Given the description of an element on the screen output the (x, y) to click on. 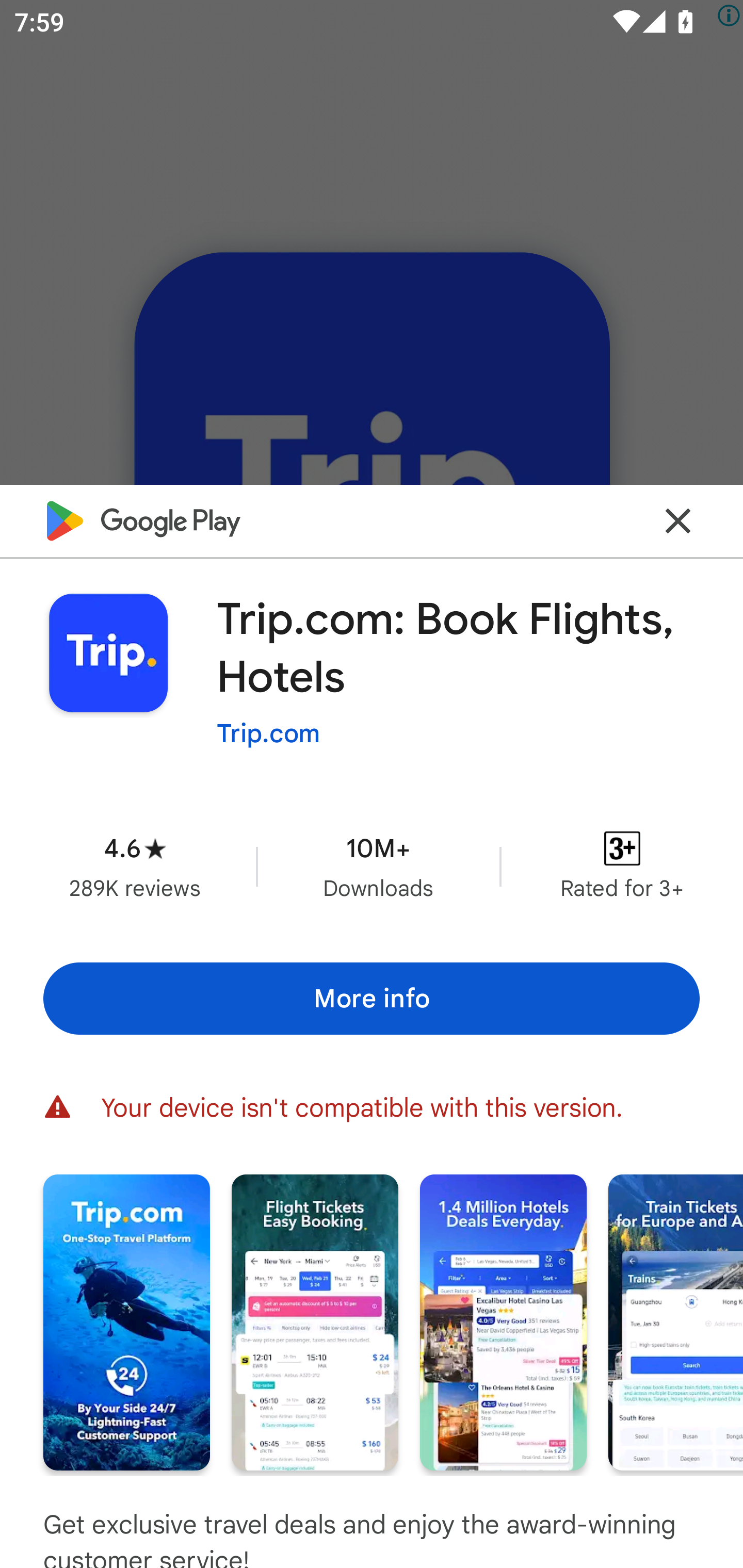
Close (677, 520)
Trip.com (268, 732)
More info (371, 998)
Screenshot "1" of "8" (126, 1322)
Screenshot "2" of "8" (314, 1322)
Screenshot "3" of "8" (502, 1322)
Screenshot "4" of "8" (675, 1322)
